Given the description of an element on the screen output the (x, y) to click on. 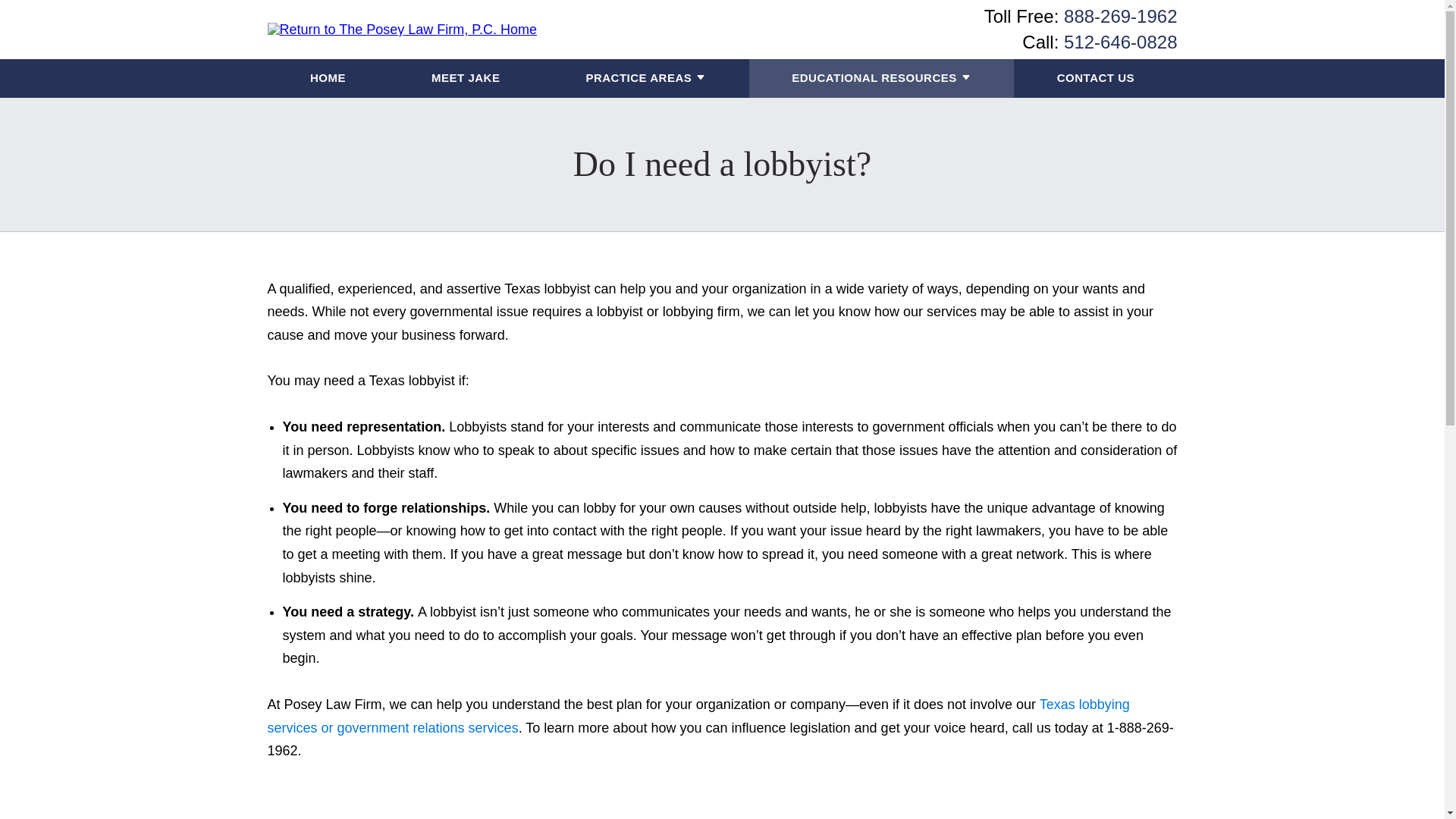
888-269-1962 (1120, 15)
call tollfree (1120, 15)
512-646-0828 (1120, 41)
PRACTICE AREAS (638, 77)
call local (1120, 41)
CONTACT US (1095, 77)
EDUCATIONAL RESOURCES (874, 77)
MEET JAKE (464, 77)
Texas lobbying services or government relations services (697, 715)
HOME (328, 77)
